Given the description of an element on the screen output the (x, y) to click on. 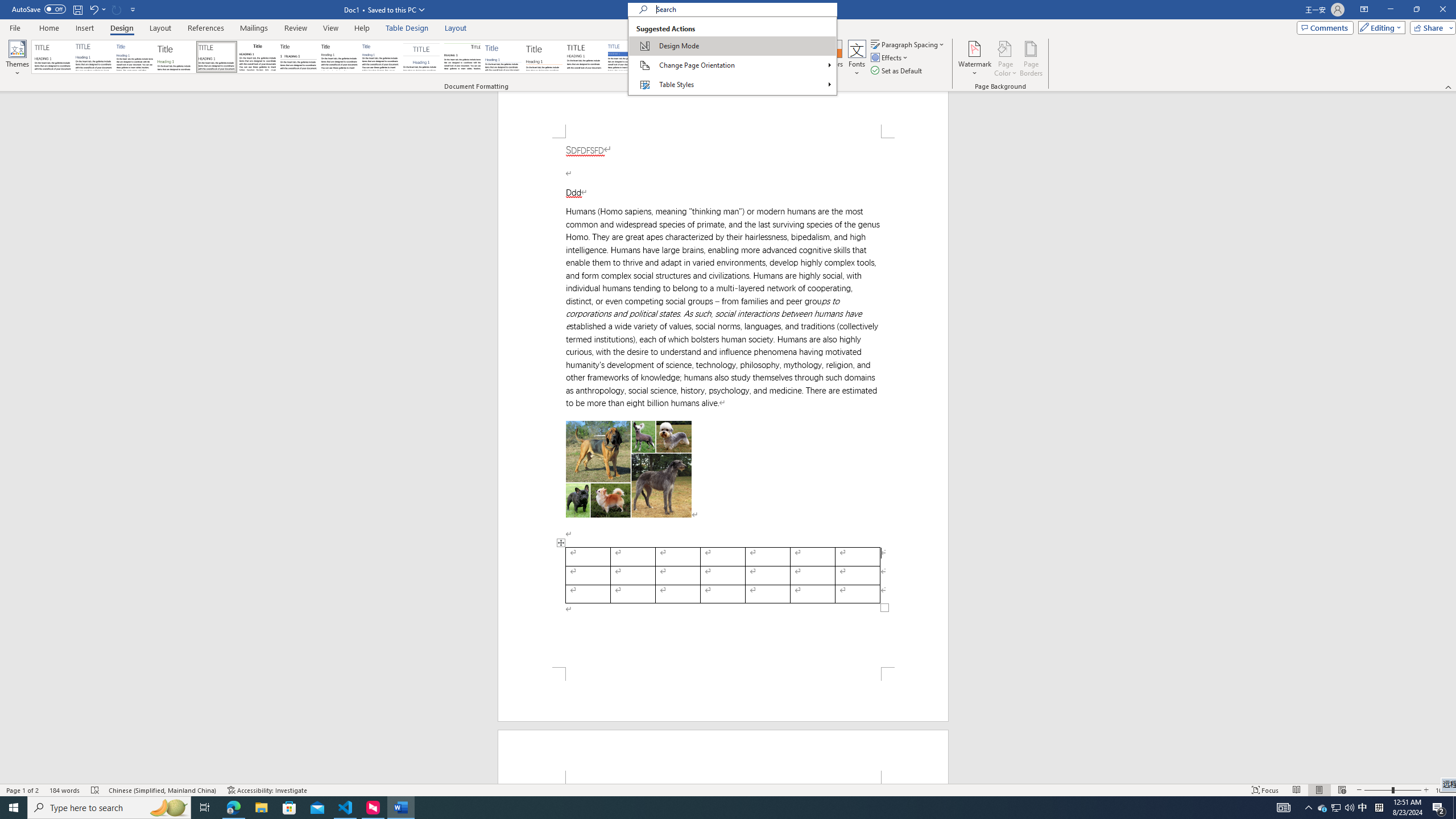
Document (52, 56)
Set as Default (897, 69)
Can't Repeat (117, 9)
Lines (Distinctive) (462, 56)
Style Set (814, 67)
Table Design (407, 28)
Lines (Simple) (503, 56)
Page Color (1005, 58)
Watermark (974, 58)
Black & White (Classic) (257, 56)
